Given the description of an element on the screen output the (x, y) to click on. 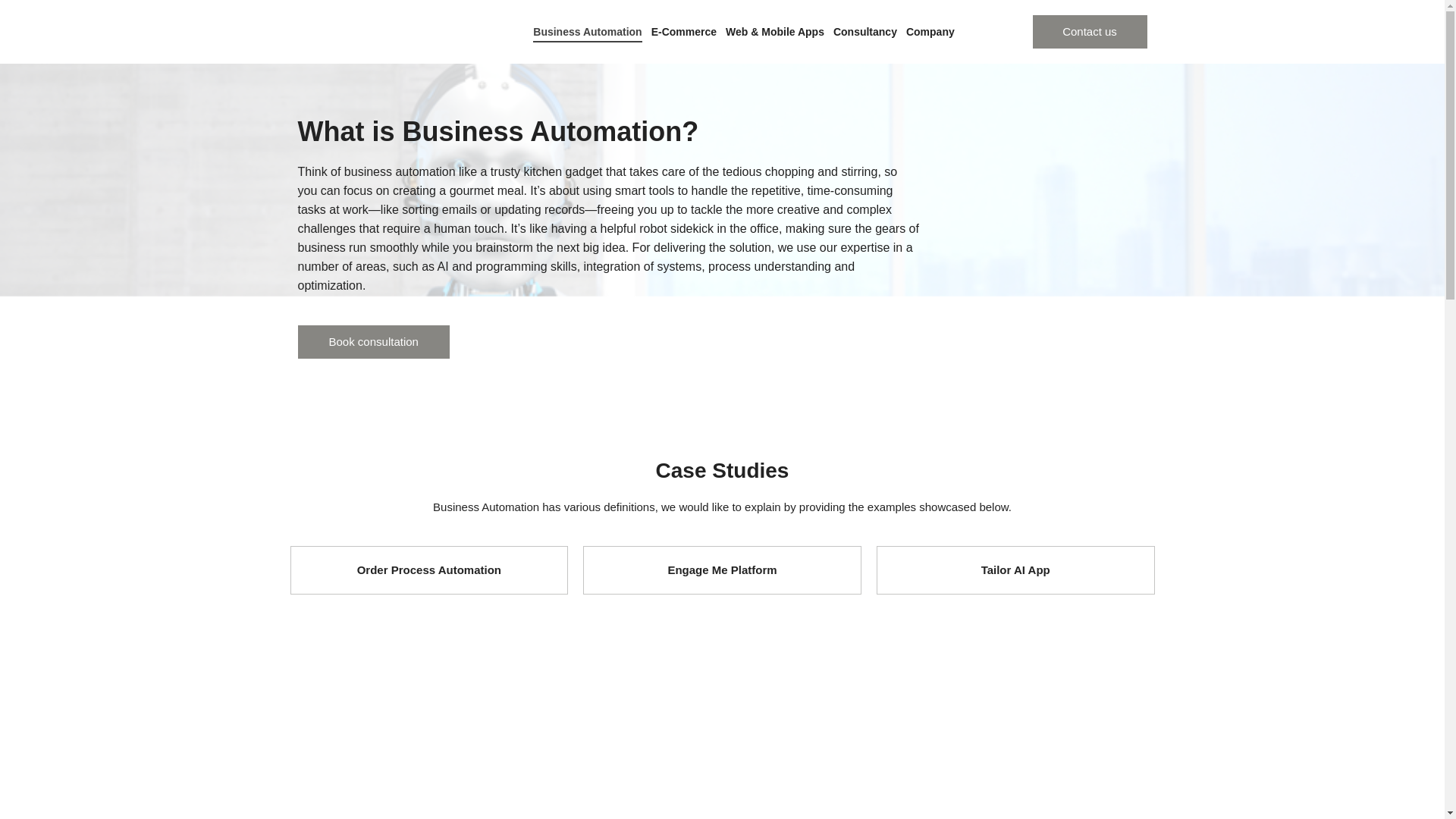
Book consultation (372, 341)
Company (930, 31)
Business Automation (587, 31)
Contact us (1089, 31)
E-Commerce (683, 31)
Consultancy (864, 31)
